Given the description of an element on the screen output the (x, y) to click on. 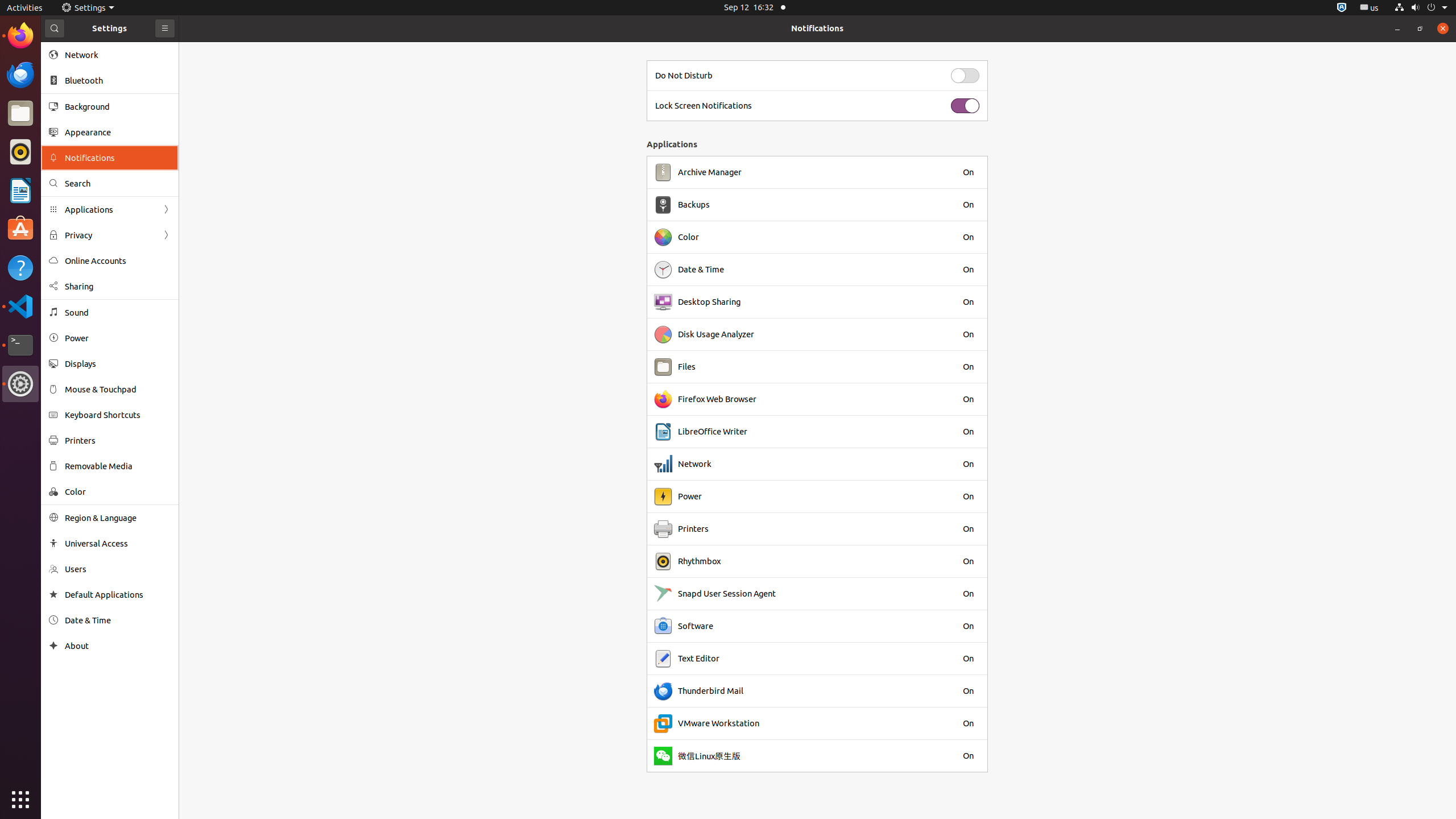
VMware Workstation Element type: label (718, 723)
Keyboard Shortcuts Element type: label (117, 414)
